Given the description of an element on the screen output the (x, y) to click on. 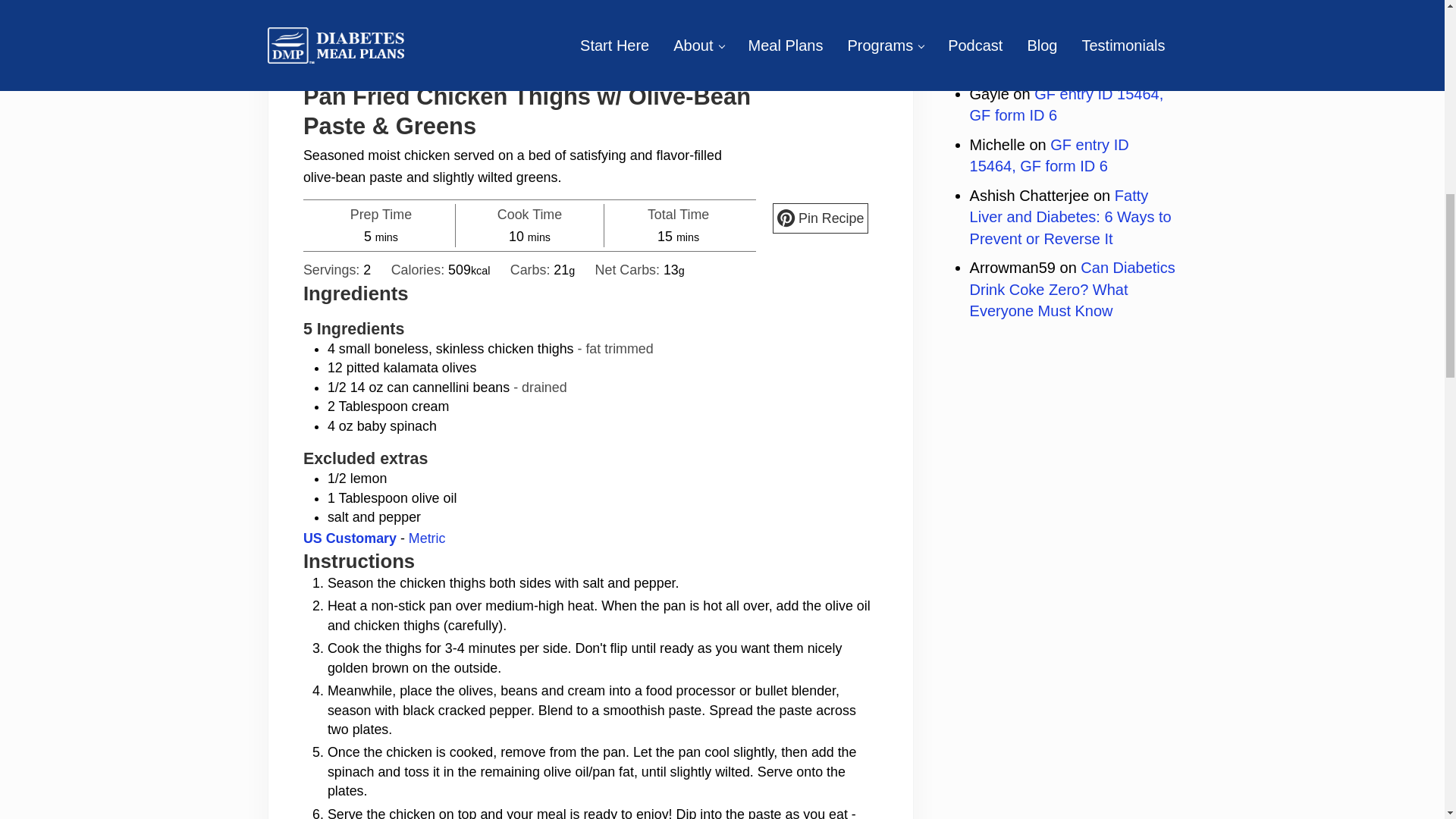
US Customary (349, 538)
Pin Recipe (821, 218)
Metric (427, 538)
